Given the description of an element on the screen output the (x, y) to click on. 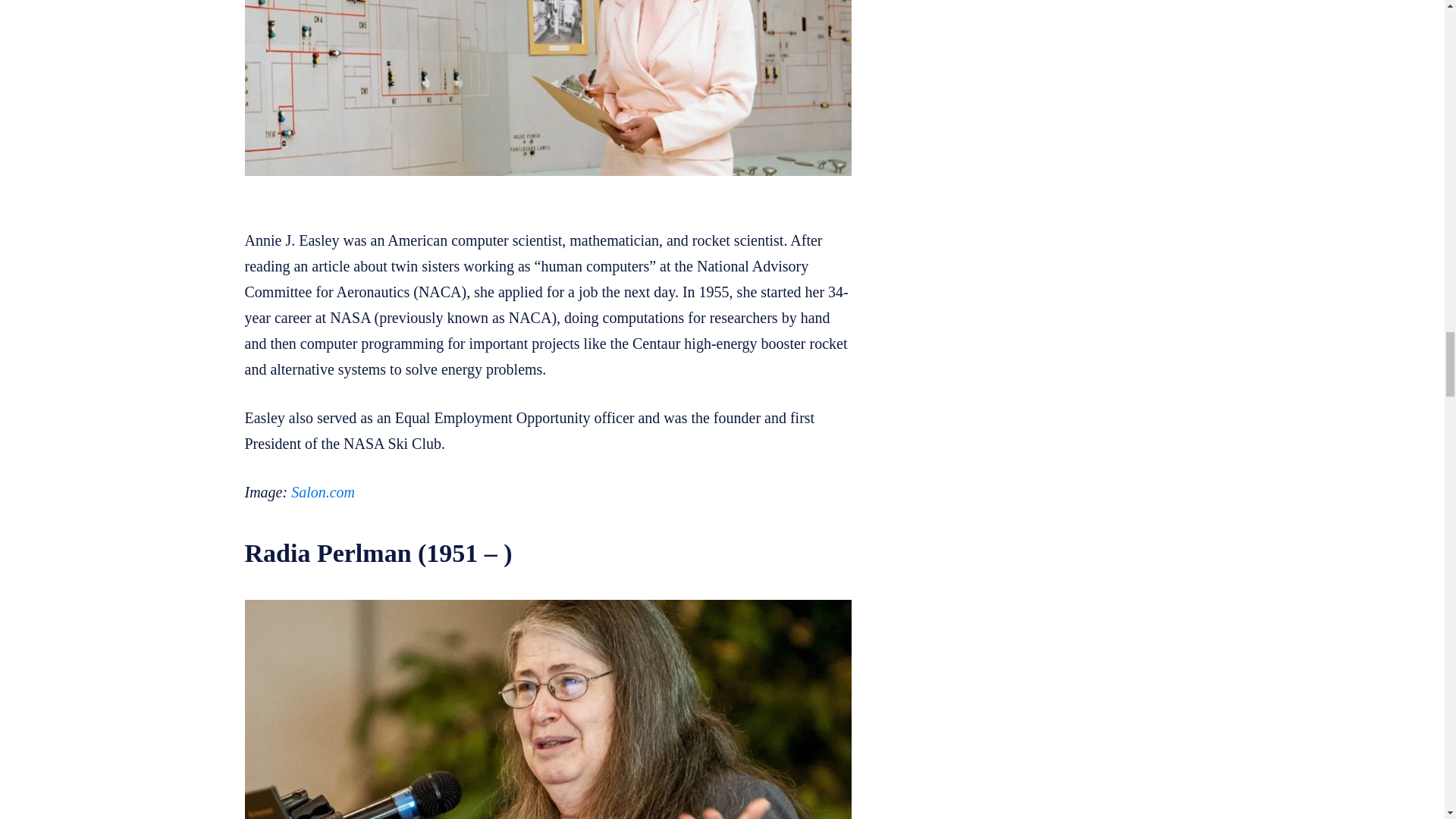
Salon.com (323, 492)
